Given the description of an element on the screen output the (x, y) to click on. 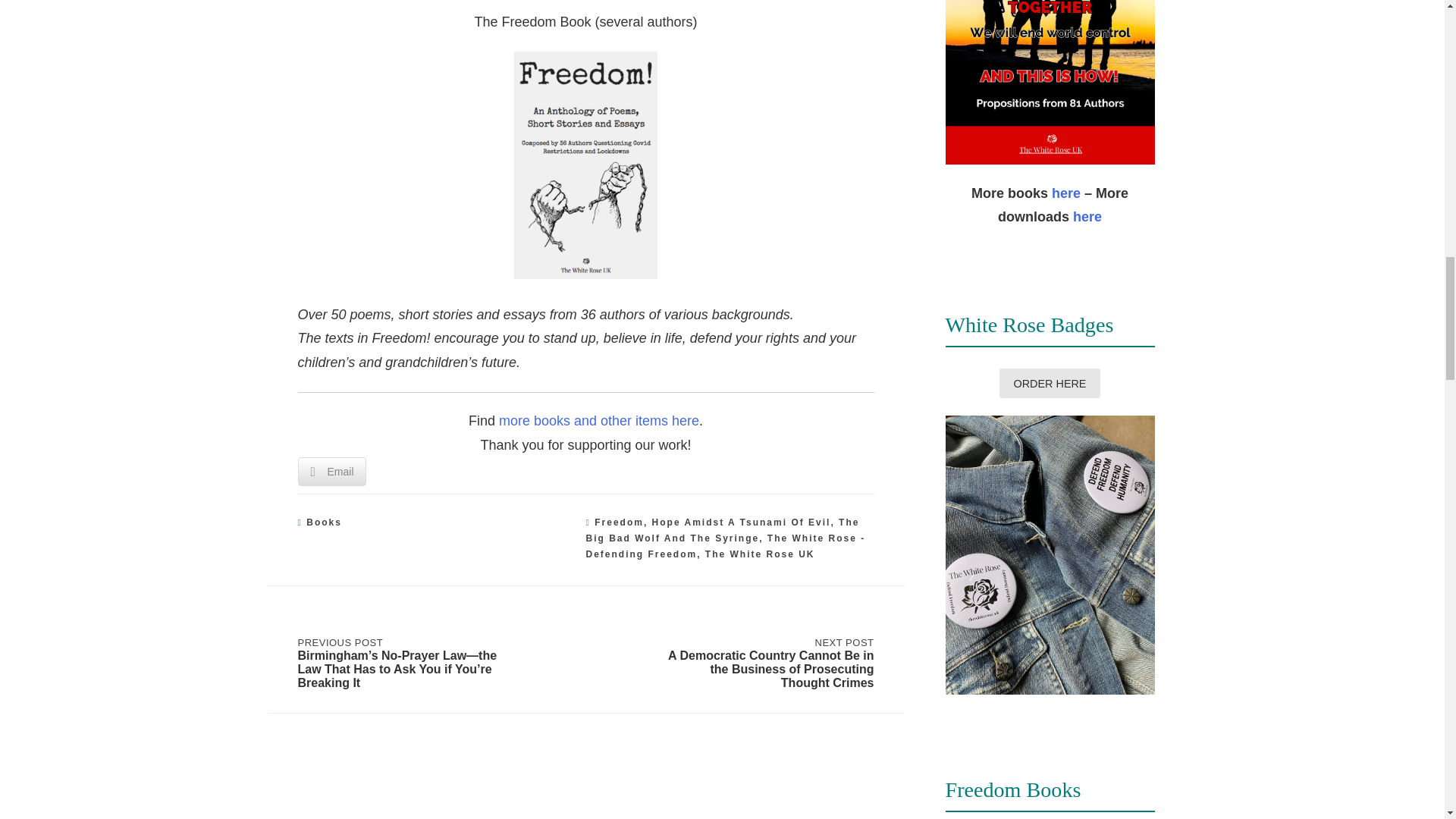
Email (331, 471)
more books and other items here (598, 420)
Freedom (618, 521)
The Big Bad Wolf And The Syringe (722, 529)
The White Rose - Defending Freedom (724, 546)
here (1065, 192)
Books (323, 521)
The White Rose UK (759, 553)
here (1087, 216)
